Given the description of an element on the screen output the (x, y) to click on. 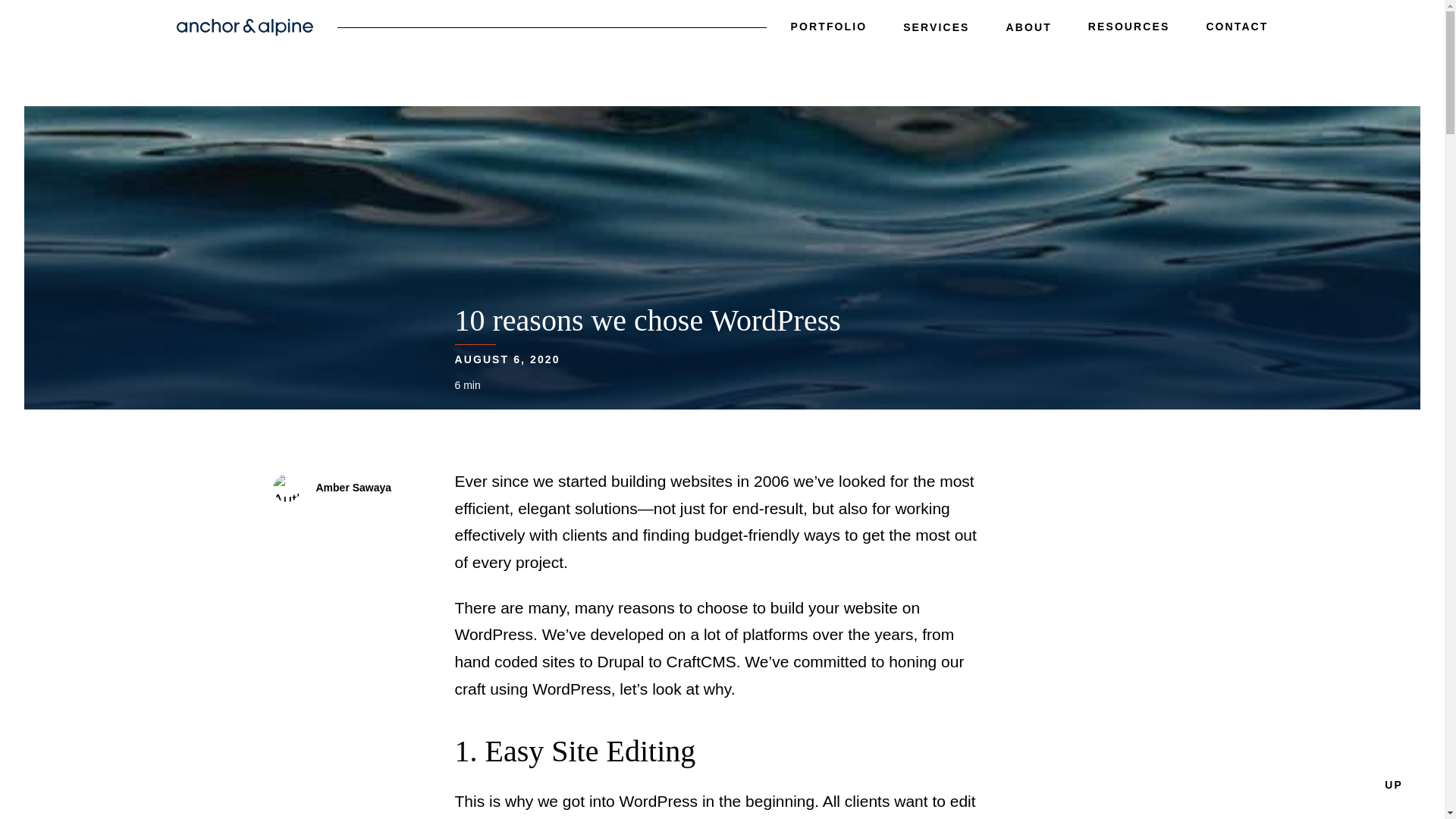
PORTFOLIO (828, 31)
ABOUT (1028, 31)
SERVICES (935, 31)
RESOURCES (1128, 31)
CONTACT (1236, 31)
